Given the description of an element on the screen output the (x, y) to click on. 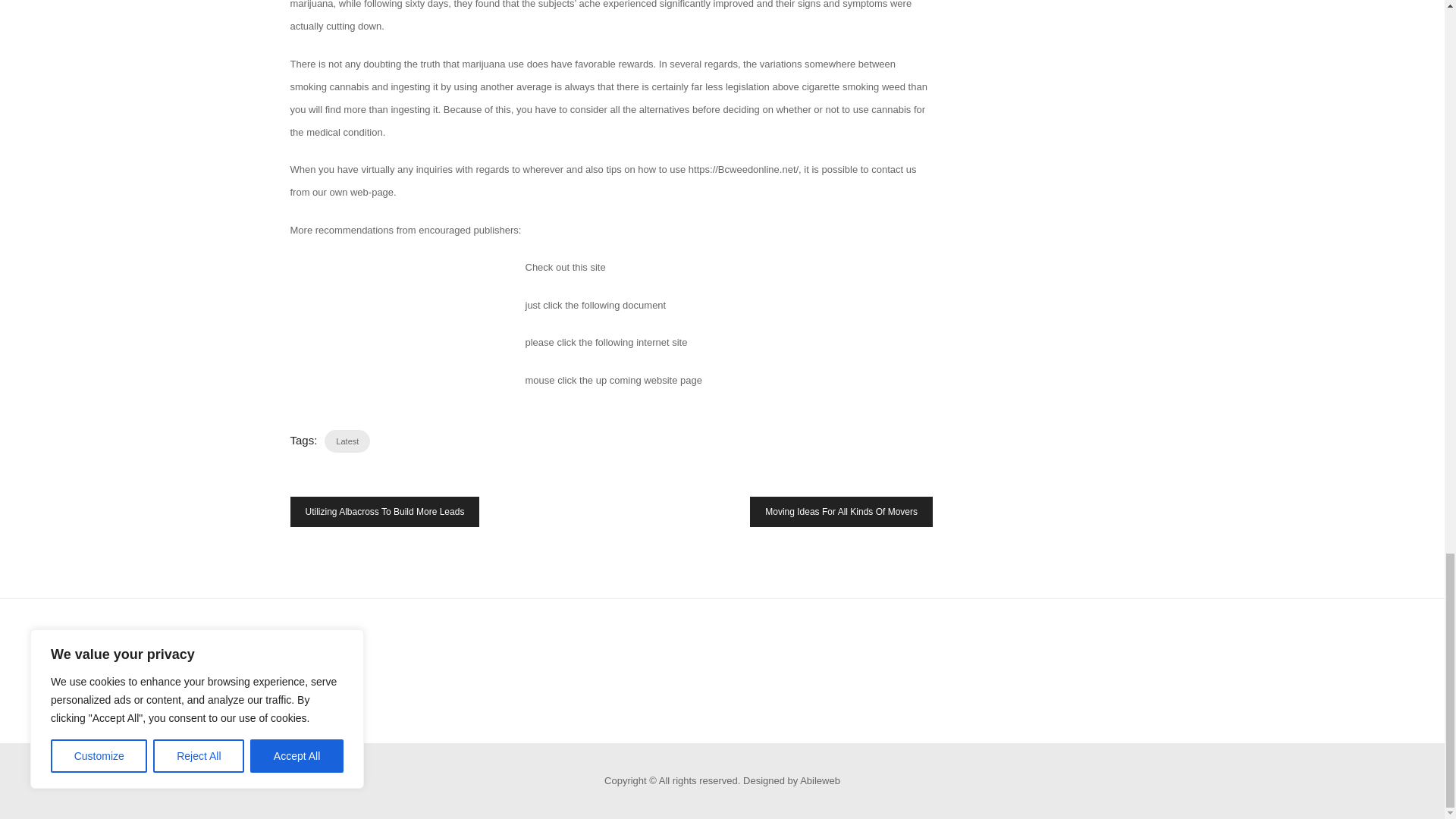
mouse click the up coming website page (612, 379)
Check out this site (564, 266)
Moving Ideas For All Kinds Of Movers (841, 511)
please click the following internet site (605, 342)
Utilizing Albacross To Build More Leads (384, 511)
Latest (346, 440)
just click the following document (594, 305)
